Given the description of an element on the screen output the (x, y) to click on. 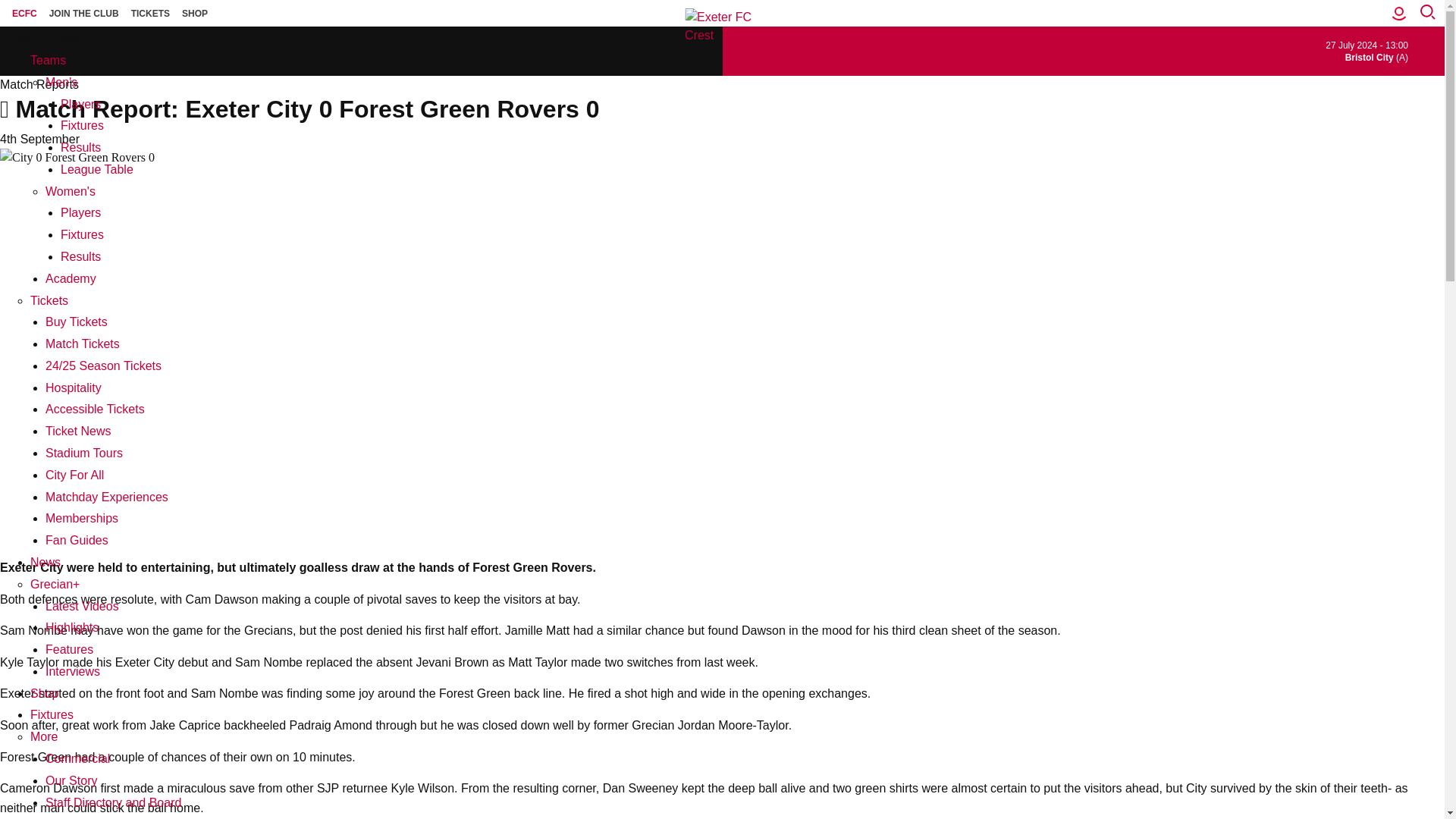
Players (80, 212)
Academy (70, 278)
Features (69, 649)
Latest Videos (82, 604)
Men's (61, 82)
Players (80, 103)
Accessible Tickets (94, 408)
Apply (29, 32)
Ticket News (78, 431)
Highlights (72, 626)
Buy Tickets (76, 321)
City For All (74, 474)
Tickets (49, 300)
News (45, 562)
